Given the description of an element on the screen output the (x, y) to click on. 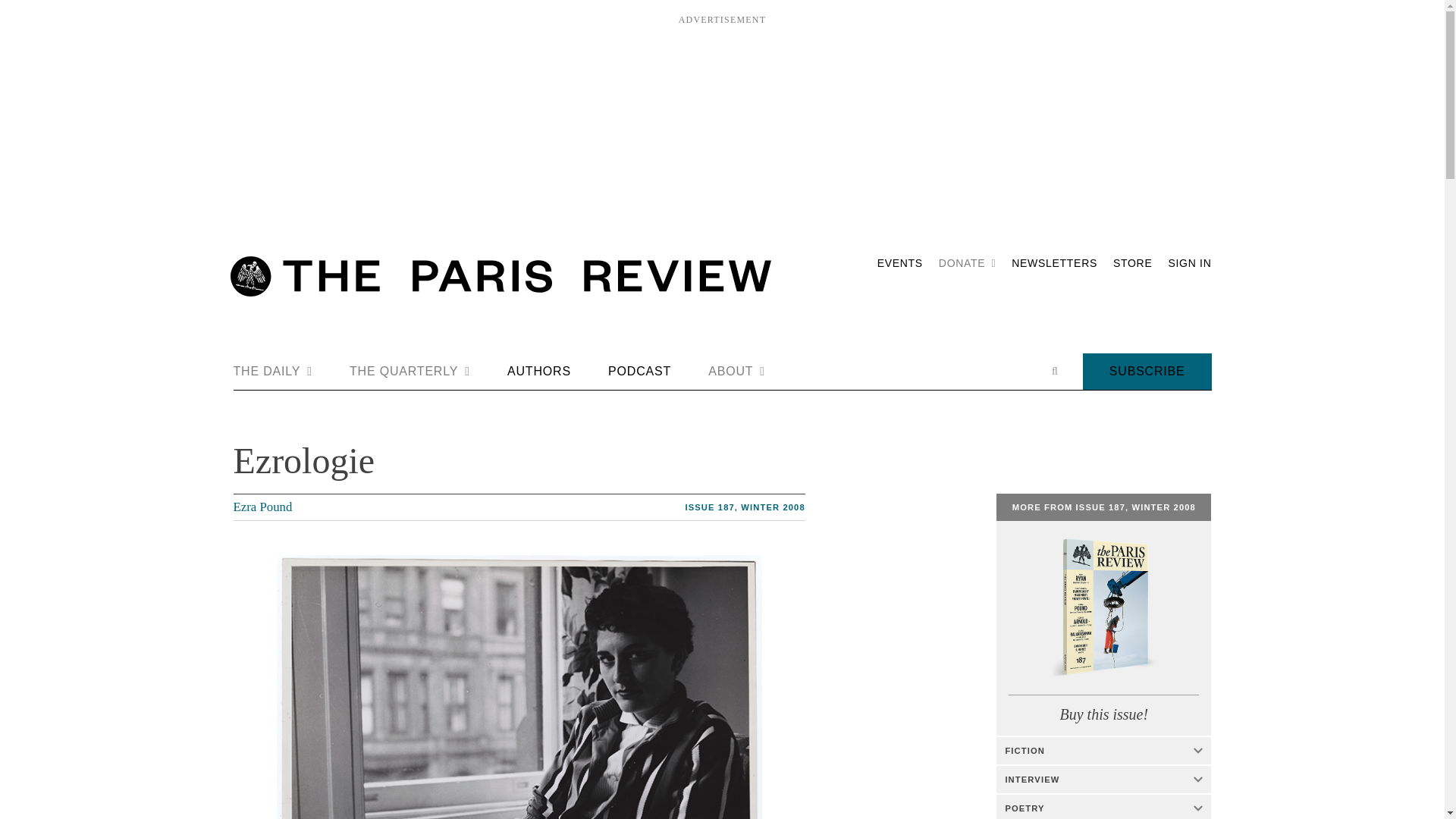
Open search (1054, 371)
THE DAILY (272, 371)
THE QUARTERLY (409, 371)
